Given the description of an element on the screen output the (x, y) to click on. 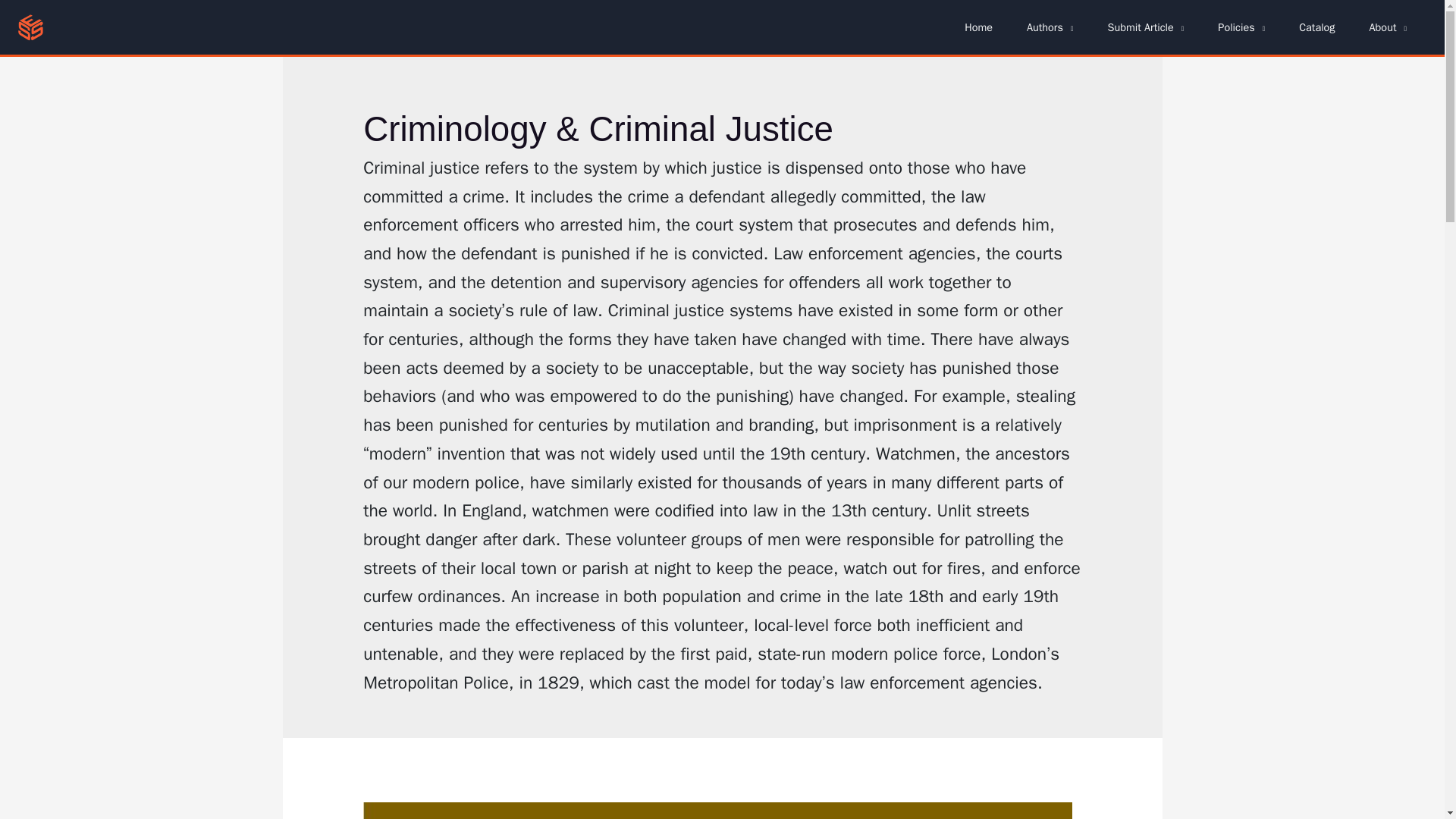
About (1393, 27)
Home (983, 27)
Authors (1055, 27)
Submit Article (1151, 27)
Policies (1247, 27)
Catalog (1321, 27)
